Given the description of an element on the screen output the (x, y) to click on. 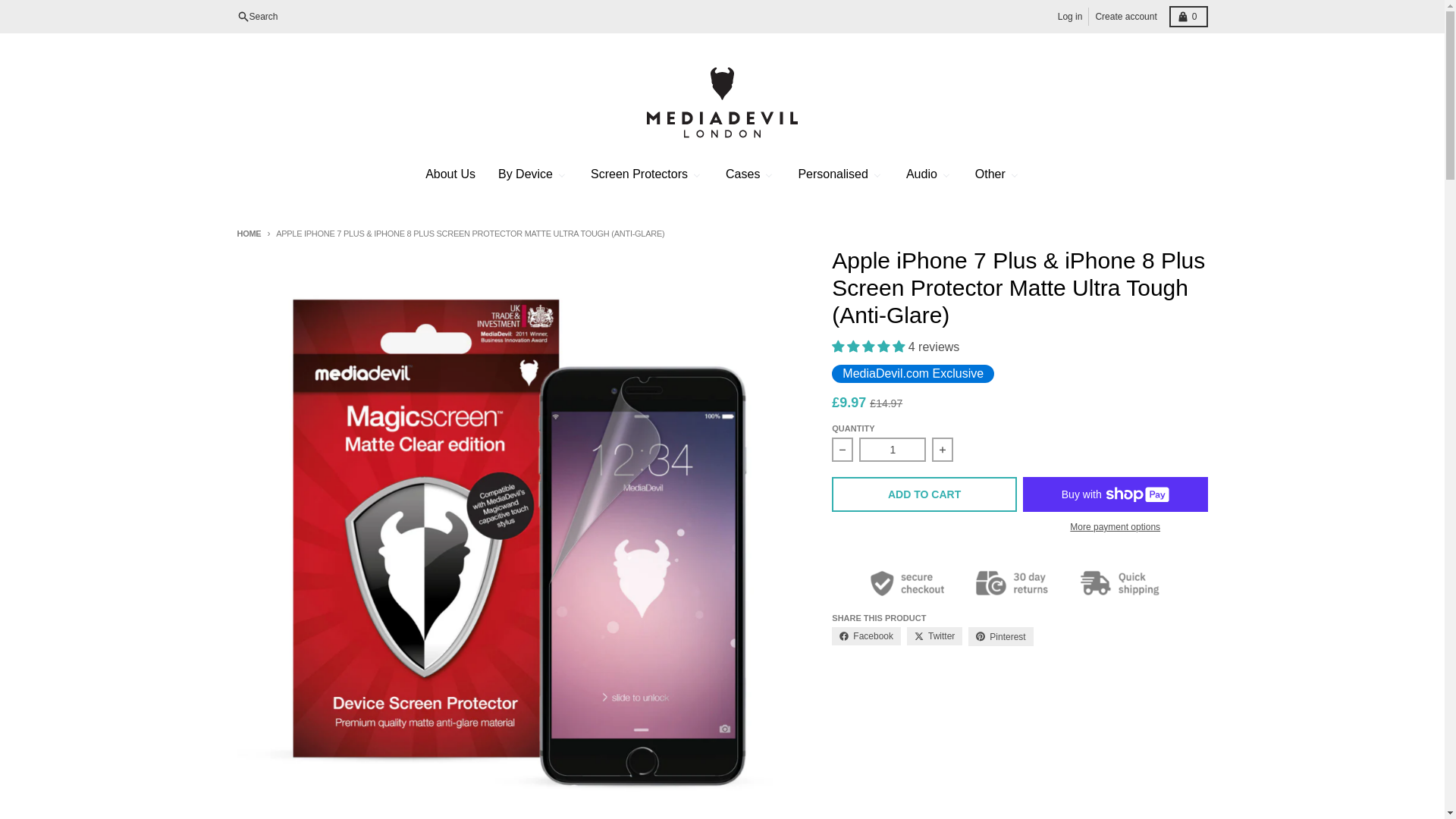
1 (892, 449)
Create account (1124, 16)
Search (1188, 16)
Log in (256, 16)
